Given the description of an element on the screen output the (x, y) to click on. 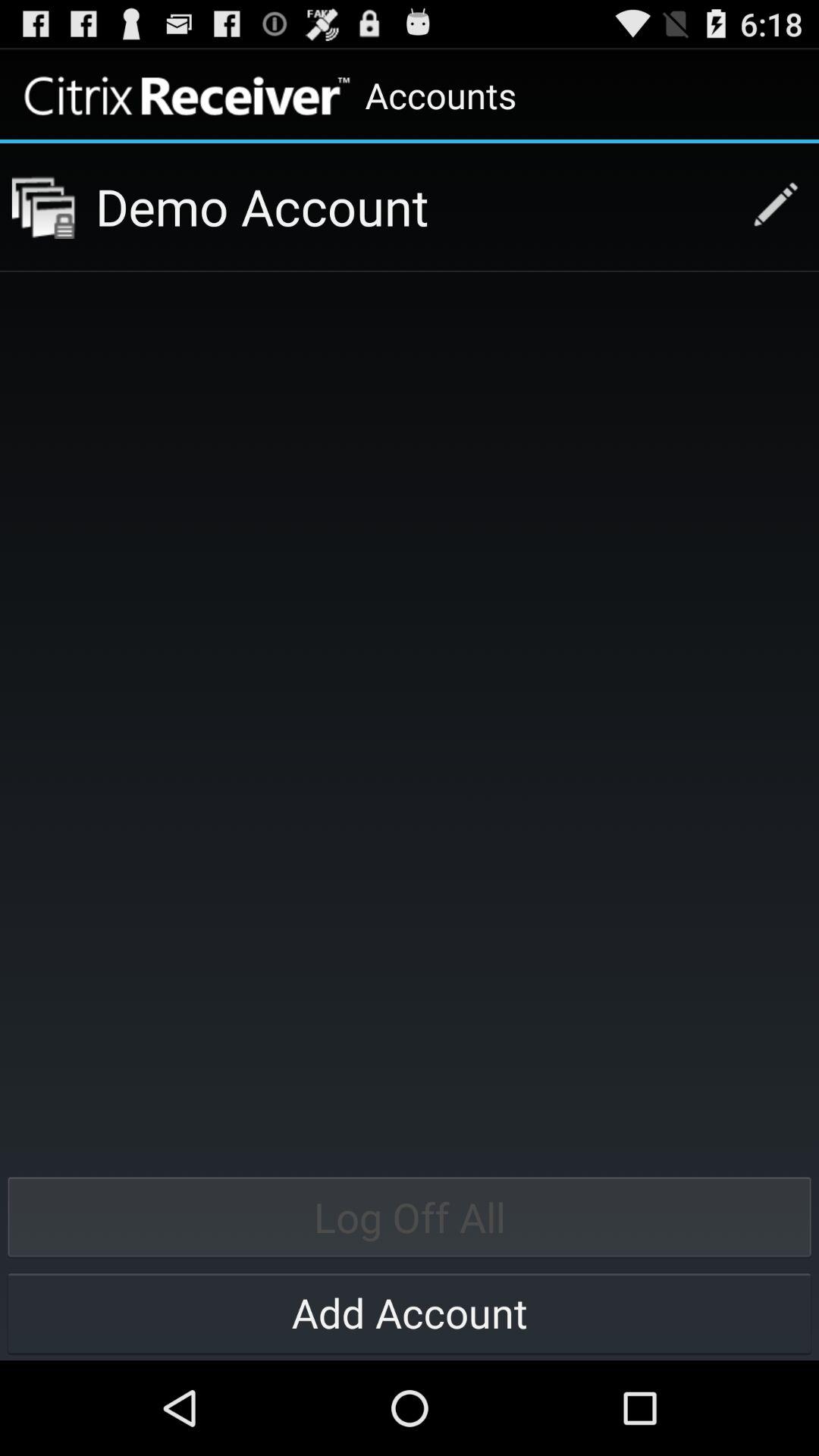
tap log off all button (409, 1216)
